Given the description of an element on the screen output the (x, y) to click on. 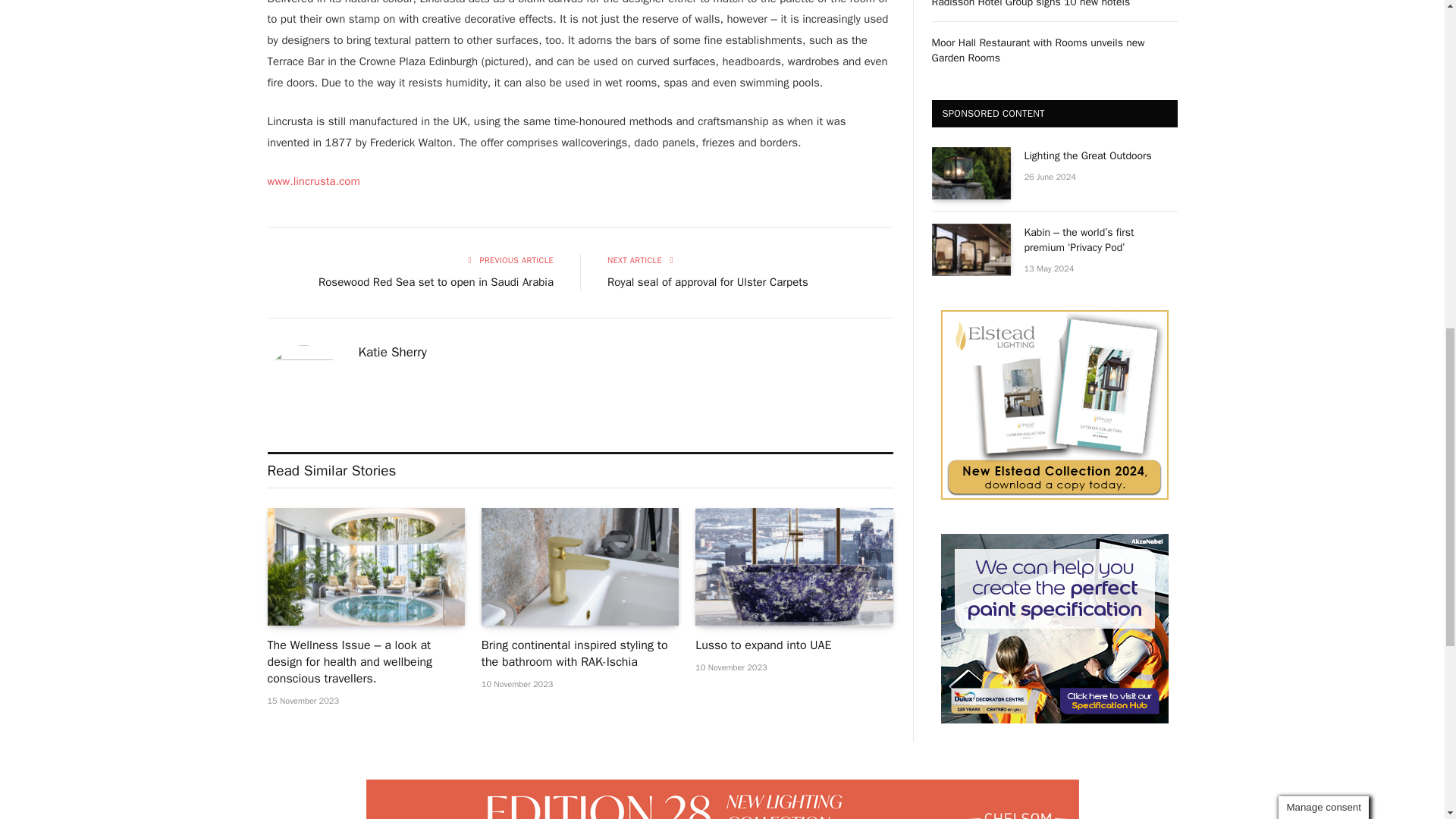
Posts by Katie Sherry (392, 352)
